Given the description of an element on the screen output the (x, y) to click on. 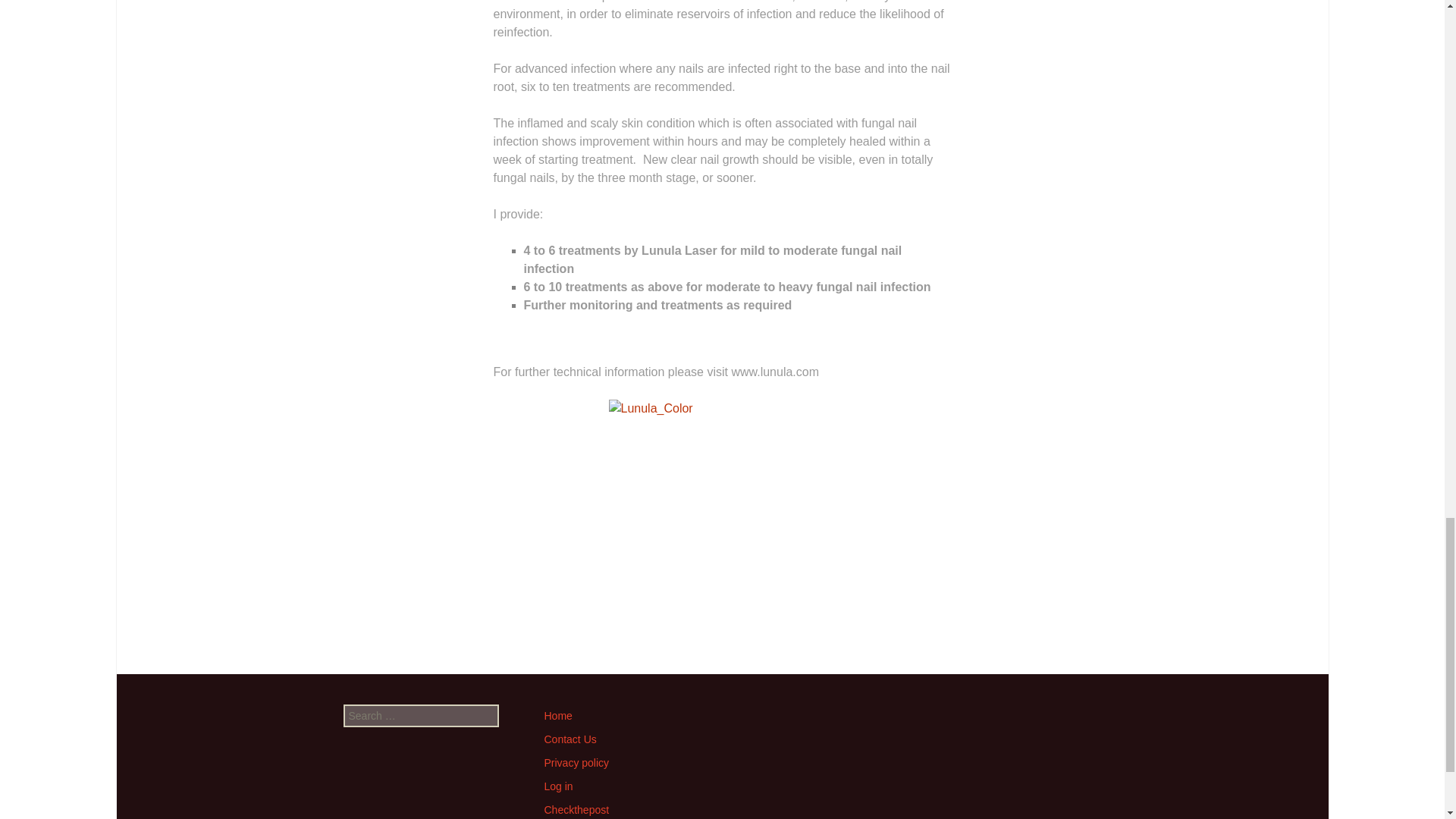
Log in (558, 786)
Checkthepost (577, 809)
Contact Us (570, 739)
Privacy policy (577, 762)
Home (558, 715)
